Given the description of an element on the screen output the (x, y) to click on. 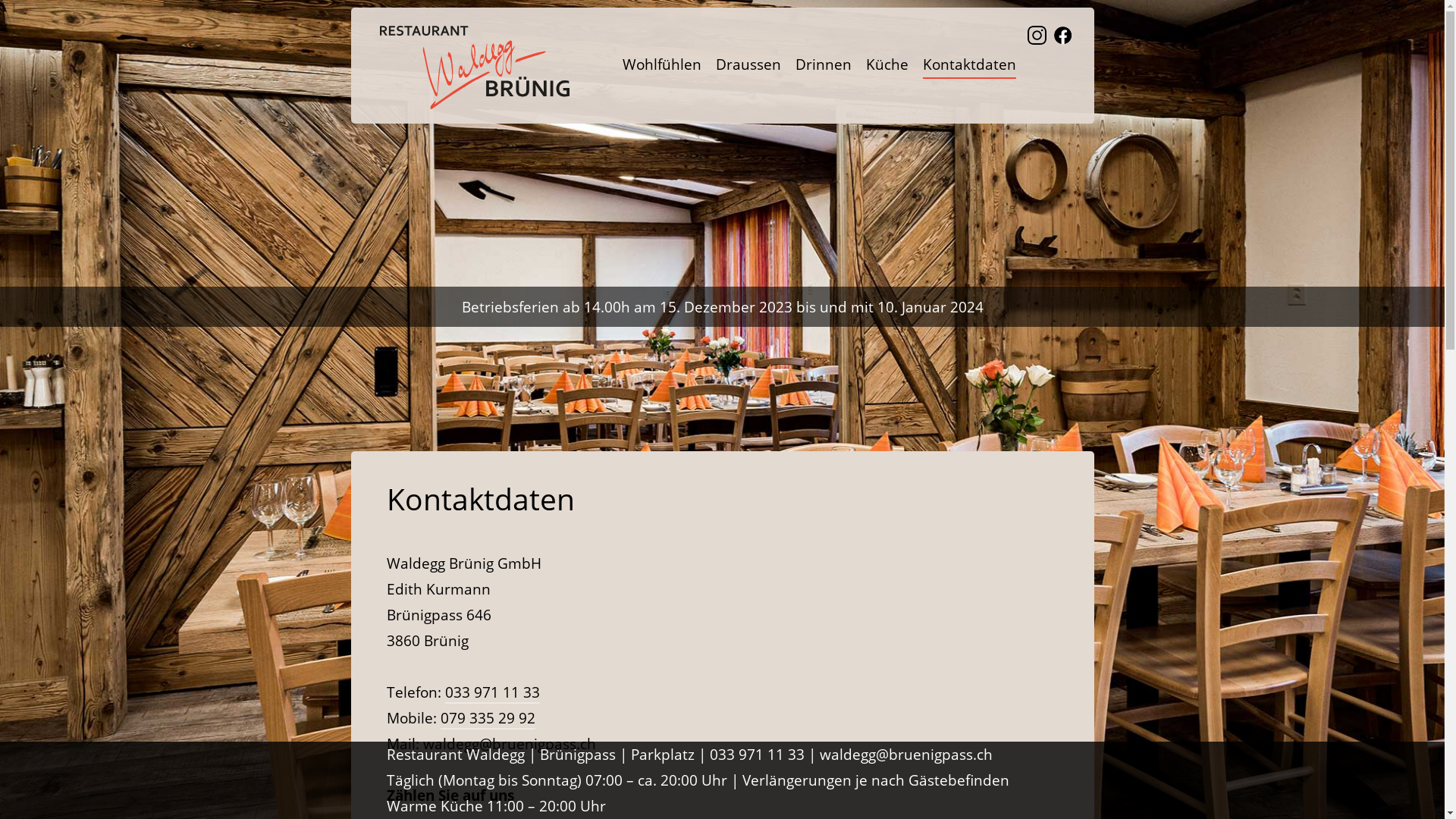
waldegg@bruenigpass.ch Element type: text (509, 744)
Kontaktdaten Element type: text (968, 64)
Draussen Element type: text (748, 64)
079 335 29 92 Element type: text (487, 718)
Parkplatz Element type: text (662, 754)
033 971 11 33 Element type: text (492, 692)
waldegg@bruenigpass.ch Element type: text (905, 754)
Drinnen Element type: text (822, 64)
033 971 11 33 Element type: text (756, 754)
